Given the description of an element on the screen output the (x, y) to click on. 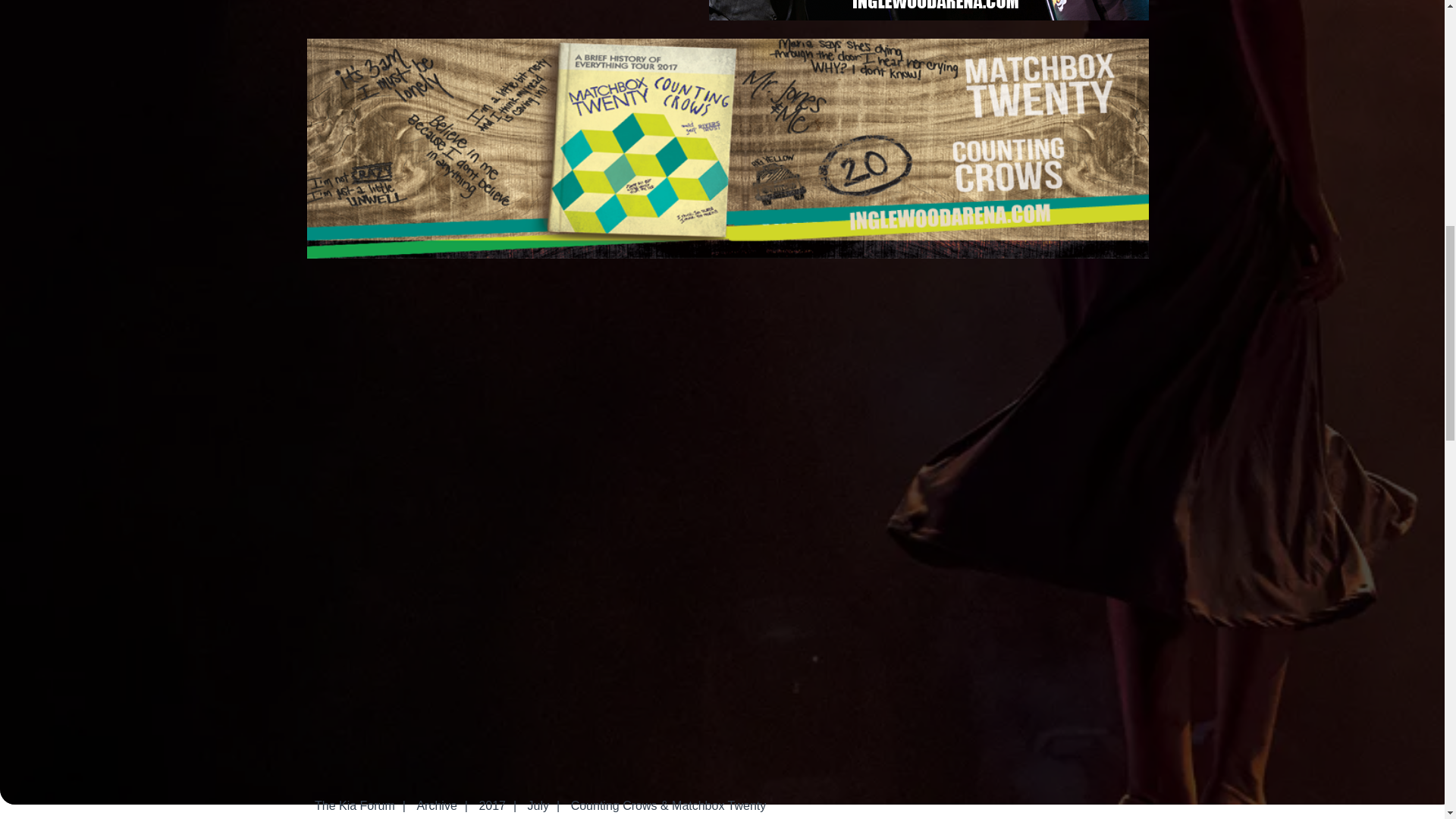
July (537, 805)
Archive (436, 805)
2017 (491, 805)
The Kia Forum (355, 805)
